Given the description of an element on the screen output the (x, y) to click on. 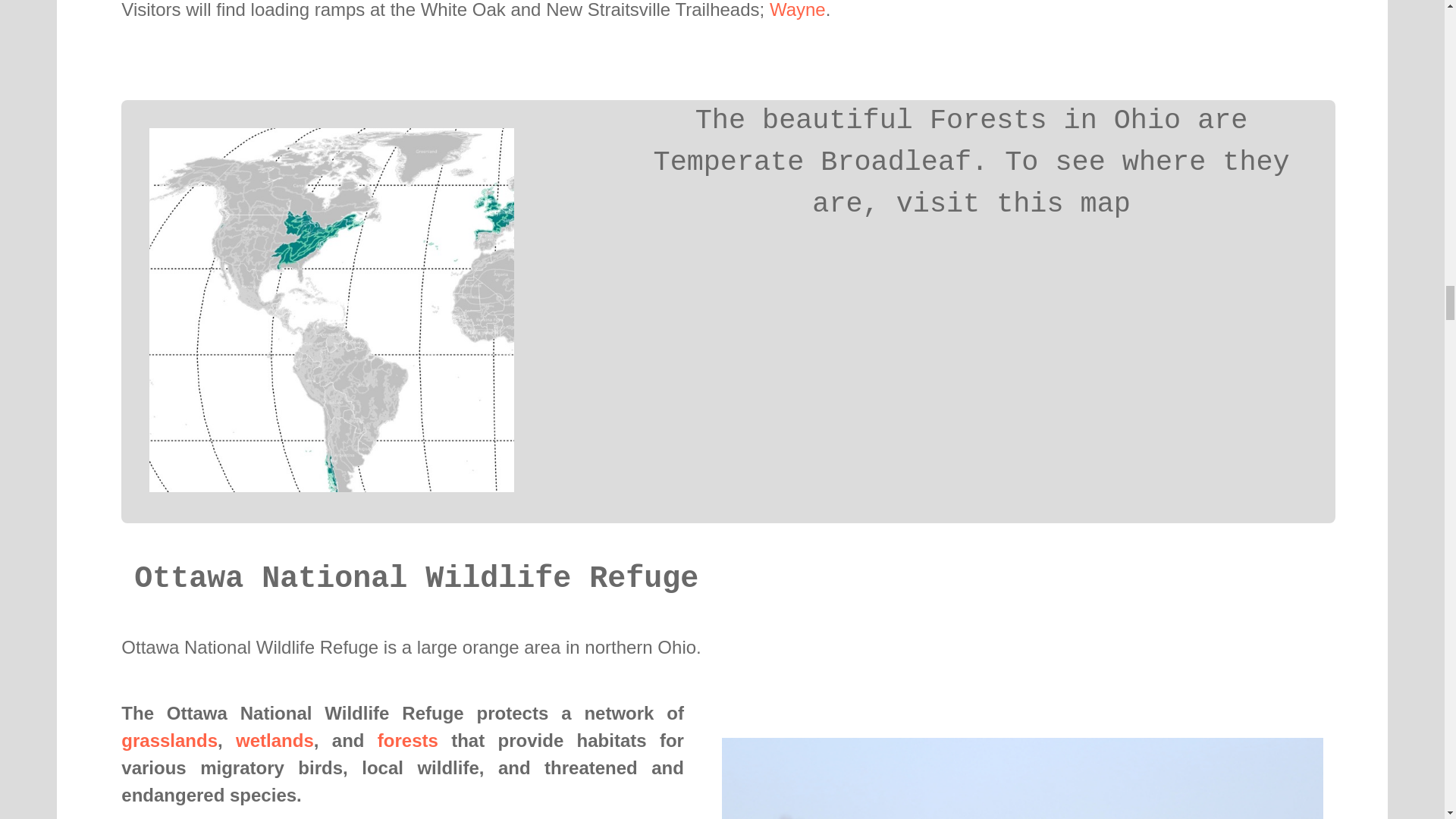
grasslands (168, 740)
Wayne (797, 9)
wetlands (274, 740)
forests (407, 740)
